Given the description of an element on the screen output the (x, y) to click on. 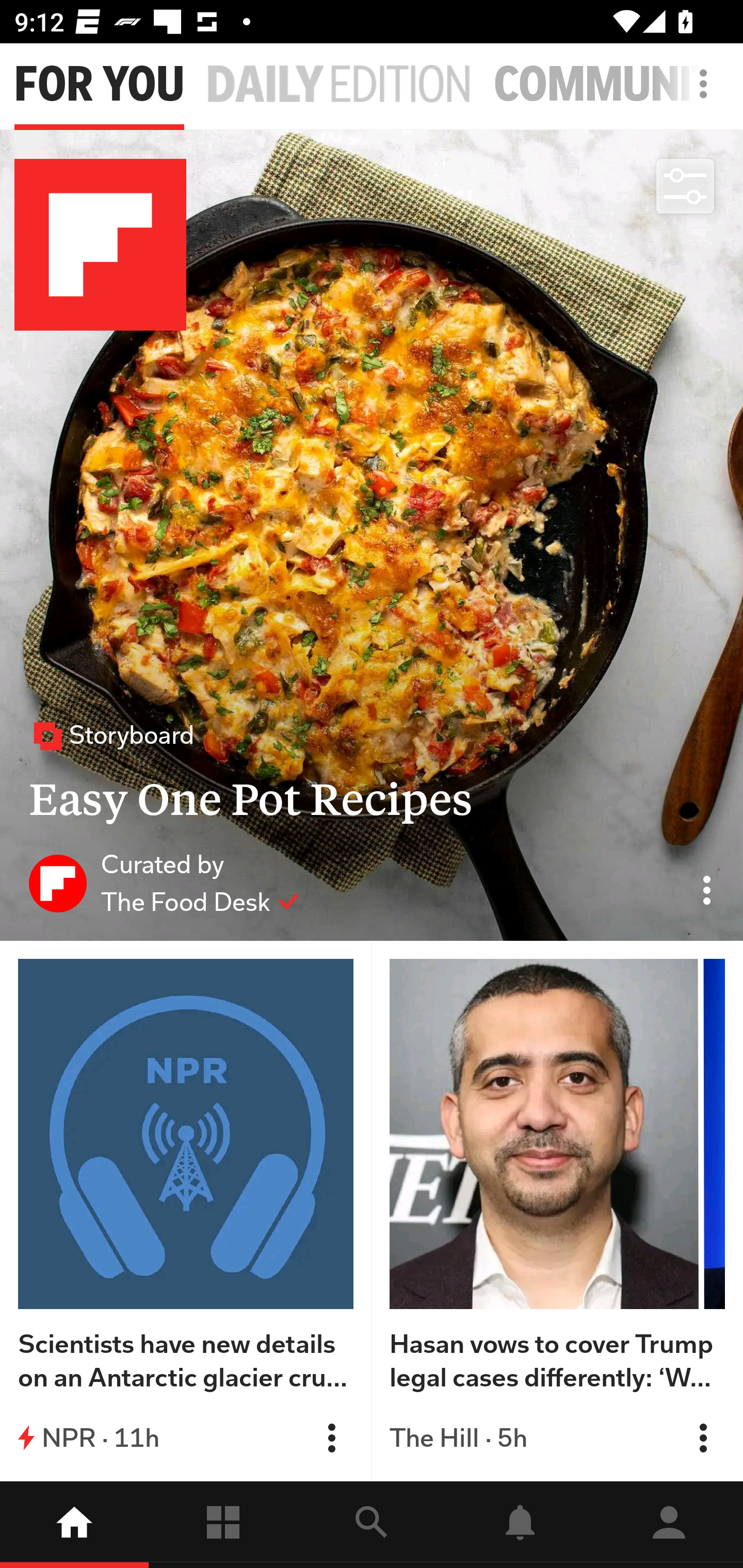
FOR YOU (99, 84)
COMMUNITY (618, 84)
More options (706, 93)
Curated by The Food Desk (163, 882)
NPR · 11h Flip into Magazine (185, 1437)
The Hill · 5h Flip into Magazine (557, 1437)
Flip into Magazine (331, 1437)
Flip into Magazine (703, 1437)
home (74, 1524)
Following (222, 1524)
explore (371, 1524)
Notifications (519, 1524)
Profile (668, 1524)
